Given the description of an element on the screen output the (x, y) to click on. 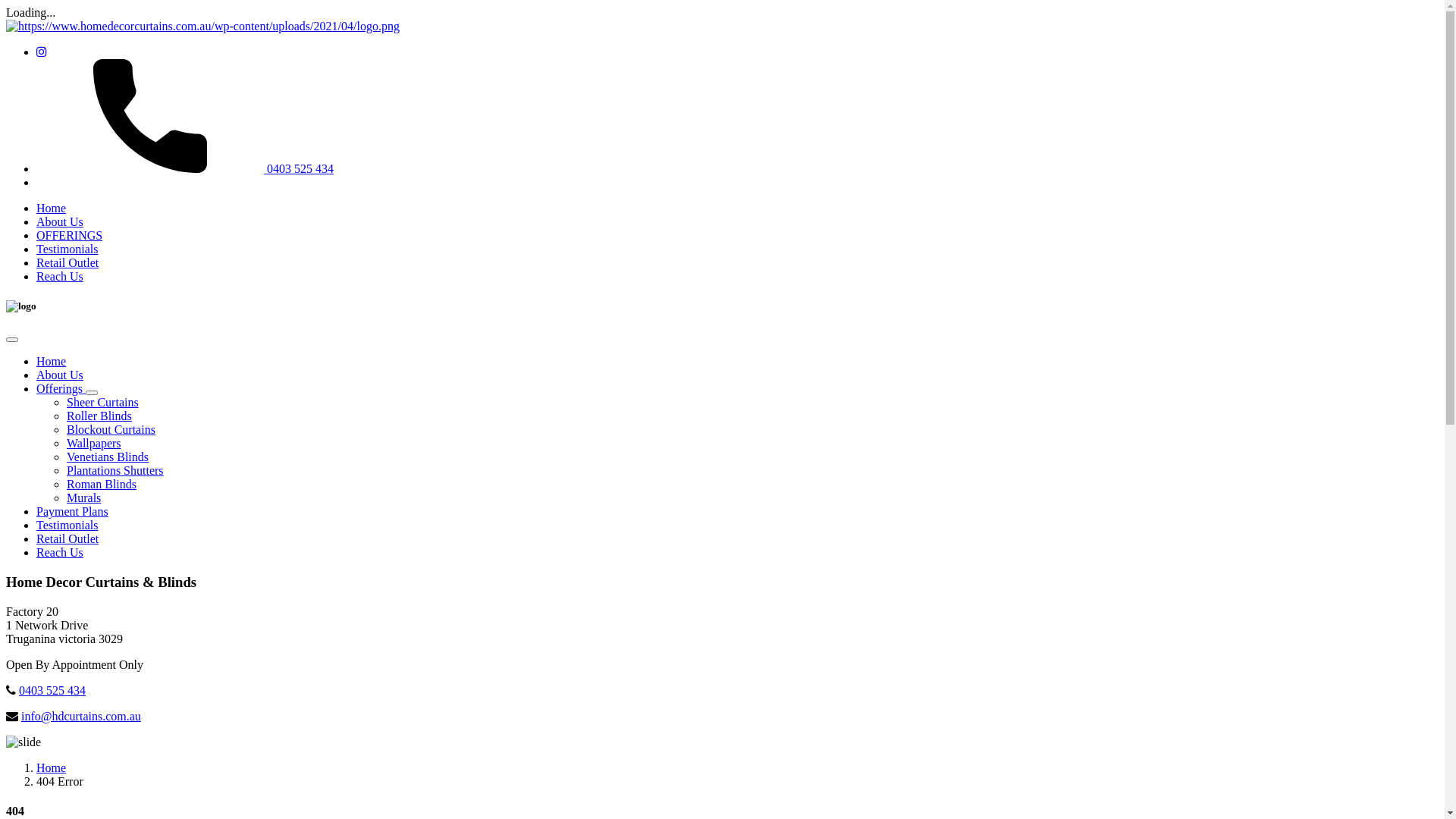
0403 525 434 Element type: text (51, 690)
Testimonials Element type: text (67, 524)
Wallpapers Element type: text (93, 442)
About Us Element type: text (59, 221)
Retail Outlet Element type: text (67, 262)
Plantations Shutters Element type: text (114, 470)
Blockout Curtains Element type: text (110, 429)
Offerings Element type: text (60, 388)
Home Element type: text (50, 207)
Home Element type: text (50, 767)
Roman Blinds Element type: text (101, 483)
Murals Element type: text (83, 497)
Reach Us Element type: text (59, 275)
info@hdcurtains.com.au Element type: text (81, 715)
0403 525 434 Element type: text (184, 168)
Home Element type: text (50, 360)
Sheer Curtains Element type: text (102, 401)
About Us Element type: text (59, 374)
Venetians Blinds Element type: text (107, 456)
OFFERINGS Element type: text (69, 235)
Testimonials Element type: text (67, 248)
Retail Outlet Element type: text (67, 538)
Roller Blinds Element type: text (98, 415)
Payment Plans Element type: text (72, 511)
Reach Us Element type: text (59, 552)
